Given the description of an element on the screen output the (x, y) to click on. 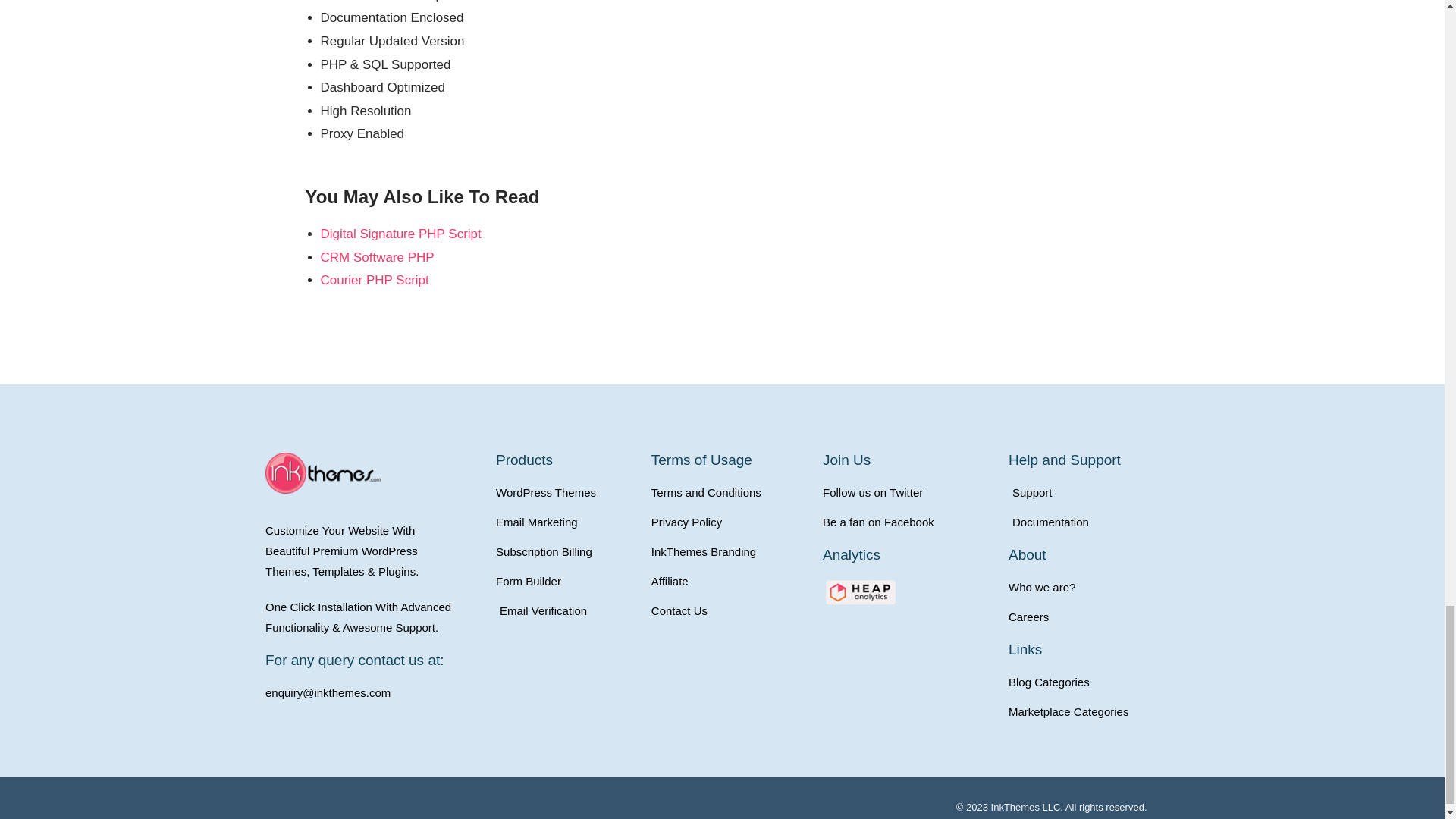
WordPress Themes (566, 492)
InkThemes Branding (729, 551)
Email Verification (566, 610)
Subscription Billing (566, 551)
Blog Categories (1094, 681)
Form Builder (566, 580)
CRM Software PHP (376, 257)
Careers (1094, 616)
Digital Signature PHP Script (400, 233)
Email Marketing (566, 521)
Contact Us (729, 610)
Support (1094, 492)
Terms and Conditions (729, 492)
Who we are? (1094, 587)
Marketplace Categories (1094, 711)
